Given the description of an element on the screen output the (x, y) to click on. 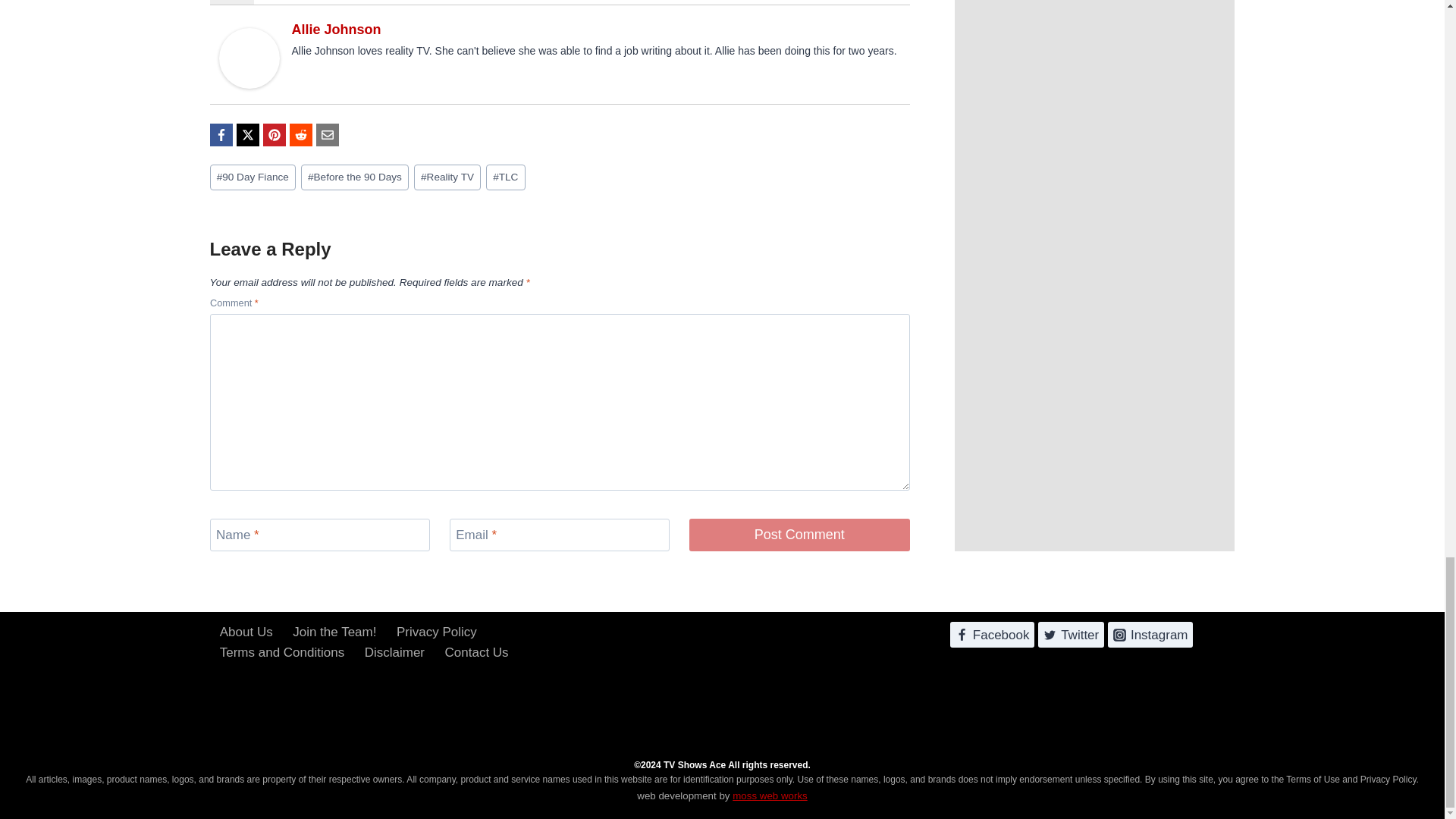
Before the 90 Days (355, 177)
Post Comment (799, 534)
Allie Johnson (335, 29)
Allie Johnson (248, 57)
Post Comment (799, 534)
90 Day Fiance (252, 177)
Reality TV (446, 177)
Recent Posts (293, 2)
Author (231, 2)
TLC (505, 177)
